Given the description of an element on the screen output the (x, y) to click on. 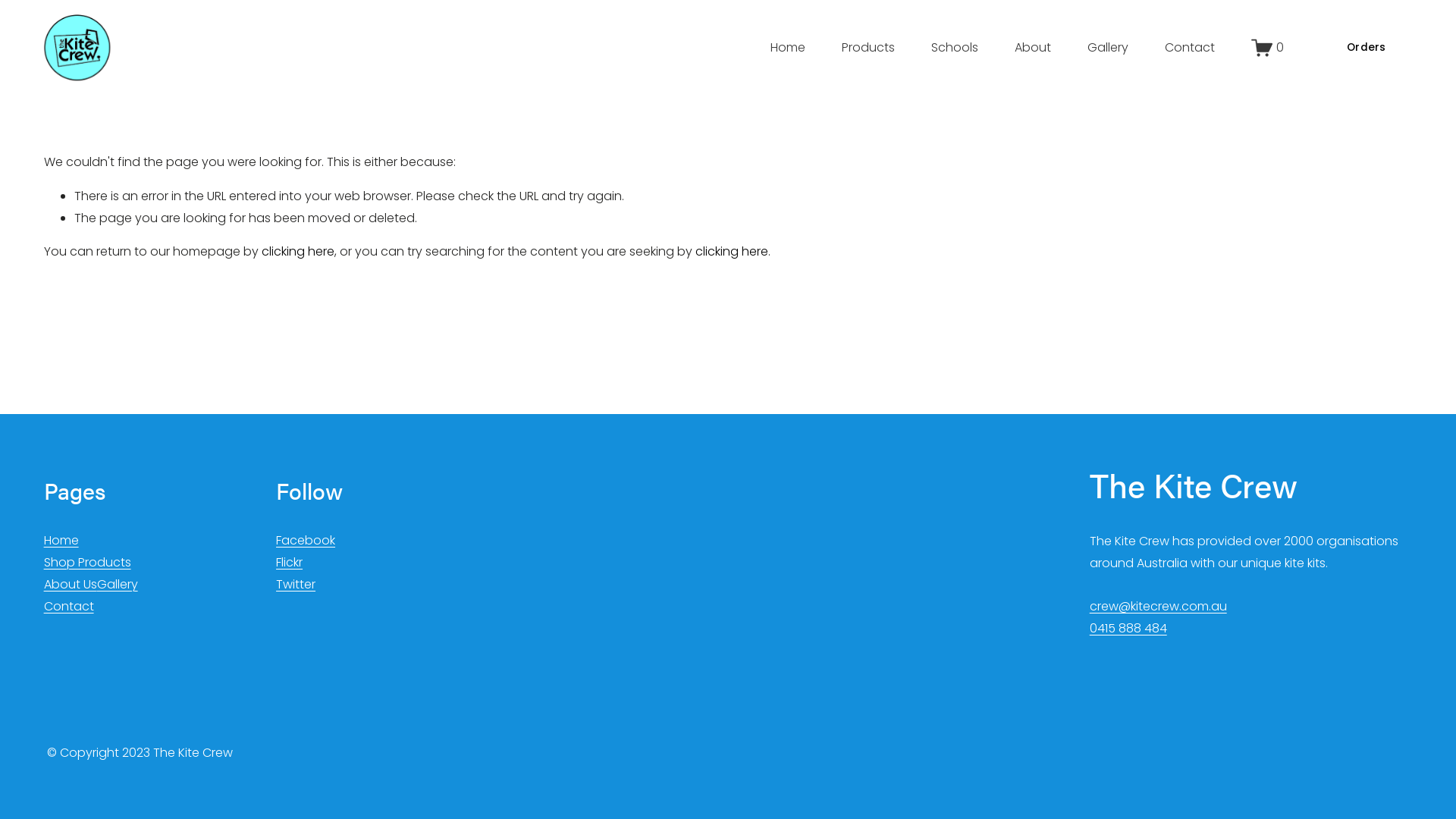
Shop Products Element type: text (87, 563)
About Us Element type: text (70, 585)
Orders Element type: text (1366, 47)
clicking here Element type: text (297, 251)
About Element type: text (1032, 47)
Twitter Element type: text (295, 585)
Home Element type: text (60, 541)
crew@kitecrew.com.au Element type: text (1157, 607)
clicking here Element type: text (731, 251)
Contact Element type: text (1189, 47)
Gallery Element type: text (117, 585)
Schools Element type: text (954, 47)
Facebook Element type: text (305, 541)
0 Element type: text (1267, 47)
Home Element type: text (787, 47)
Contact Element type: text (68, 607)
0415 888 484 Element type: text (1128, 629)
Products Element type: text (867, 47)
Flickr Element type: text (289, 563)
Gallery Element type: text (1107, 47)
